Given the description of an element on the screen output the (x, y) to click on. 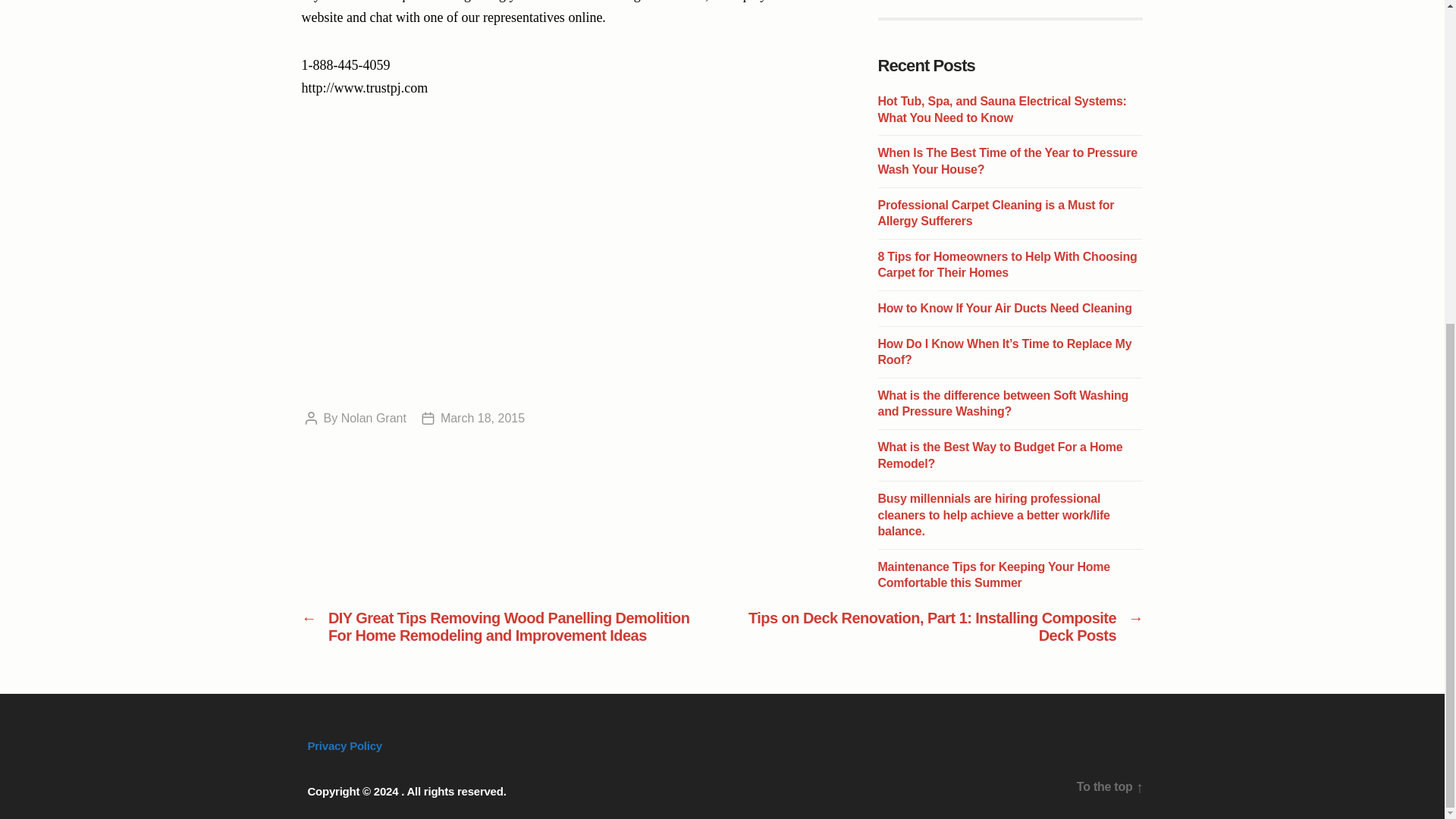
Privacy Policy (344, 745)
What is the Best Way to Budget For a Home Remodel? (999, 455)
Professional Carpet Cleaning is a Must for Allergy Sufferers (996, 213)
How to Know If Your Air Ducts Need Cleaning (1004, 308)
March 18, 2015 (482, 418)
